Given the description of an element on the screen output the (x, y) to click on. 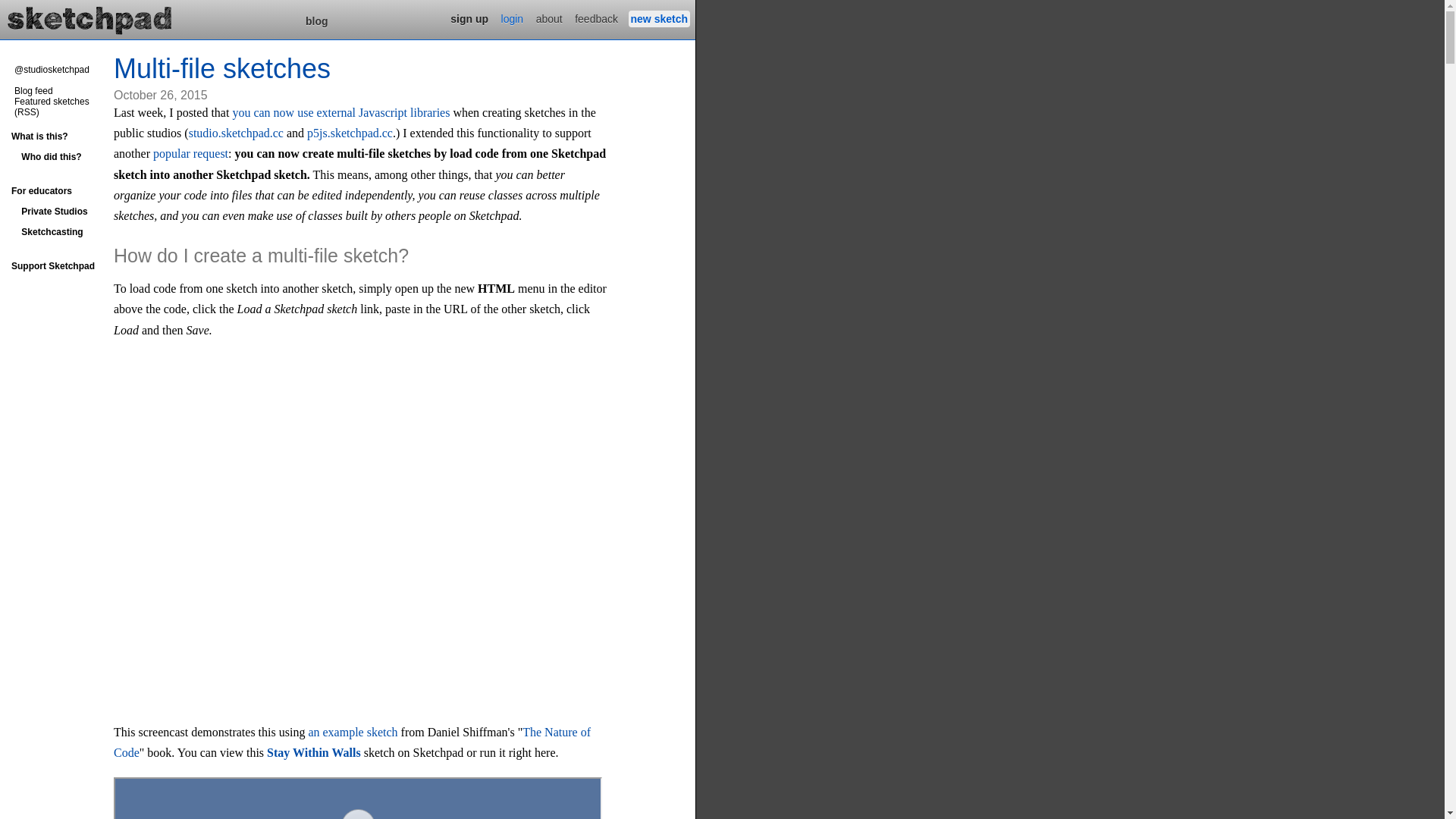
Multi-file sketches Element type: text (221, 68)
login Element type: text (512, 18)
p5js.sketchpad.cc Element type: text (349, 132)
Stay Within Walls Element type: text (313, 752)
popular request Element type: text (190, 153)
Studio Sketchpad is Processing on Etherpad Element type: hover (90, 18)
Blog feed Element type: text (33, 90)
about Element type: text (548, 18)
For educators Element type: text (58, 190)
What is this? Element type: text (58, 136)
    Who did this? Element type: text (58, 156)
studio.sketchpad.cc Element type: text (235, 132)
new sketch Element type: text (659, 18)
    Sketchcasting Element type: text (58, 231)
Support Sketchpad Element type: text (58, 265)
an example sketch Element type: text (352, 731)
    Private Studios Element type: text (58, 211)
blog Element type: text (316, 20)
@studiosketchpad Element type: text (51, 69)
feedback Element type: text (596, 18)
sign up Element type: text (469, 18)
The Nature of Code Element type: text (351, 742)
Featured sketches (RSS) Element type: text (51, 106)
you can now use external Javascript libraries Element type: text (340, 112)
